Given the description of an element on the screen output the (x, y) to click on. 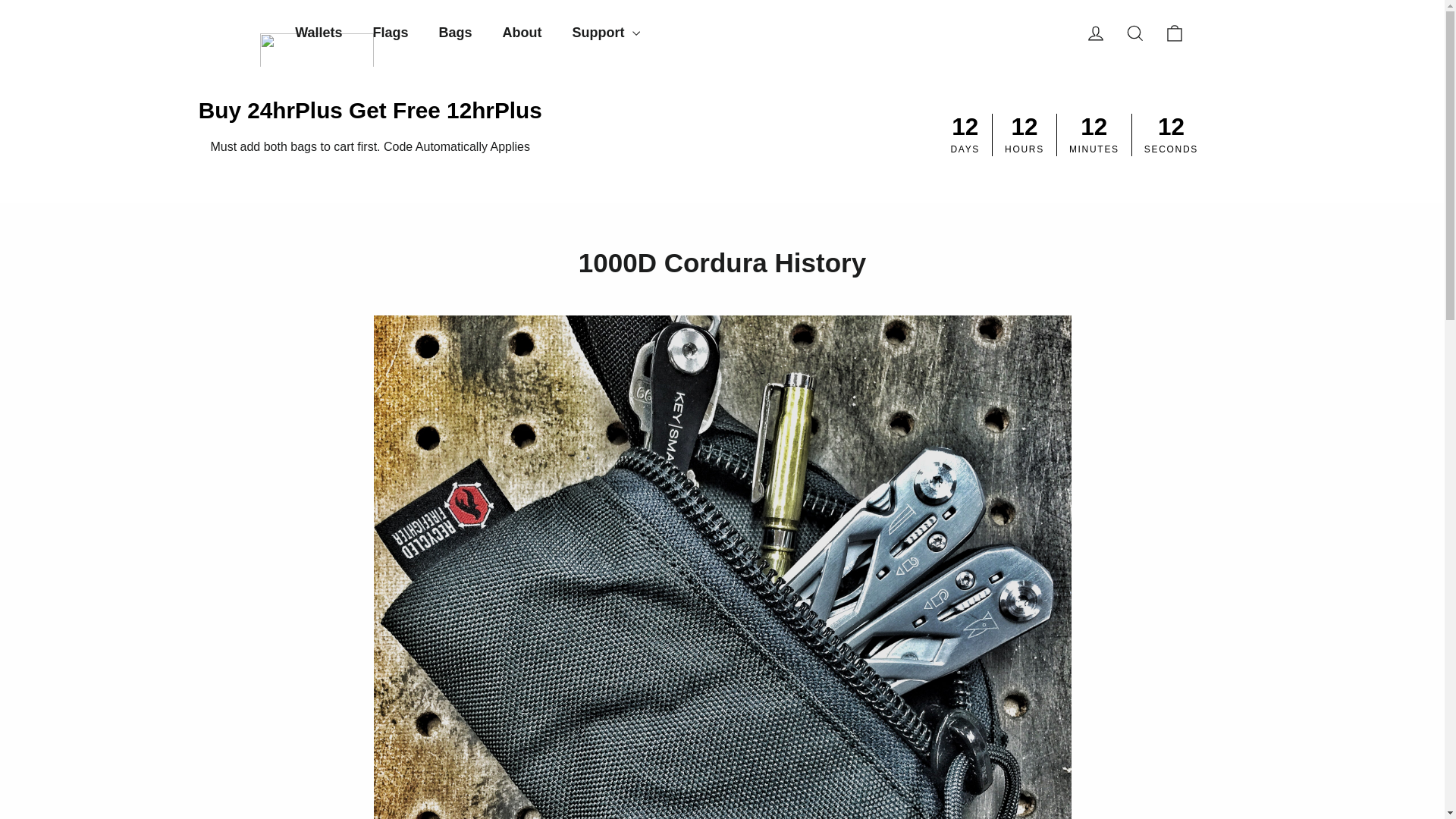
icon-bag-minimal (1174, 33)
Must add both bags to cart first. Code Automatically Applies (369, 146)
icon-search (1134, 33)
account (1094, 33)
Flags (390, 33)
About (522, 33)
Backpacks (369, 146)
Wallets (1134, 33)
Bags (1173, 33)
